Given the description of an element on the screen output the (x, y) to click on. 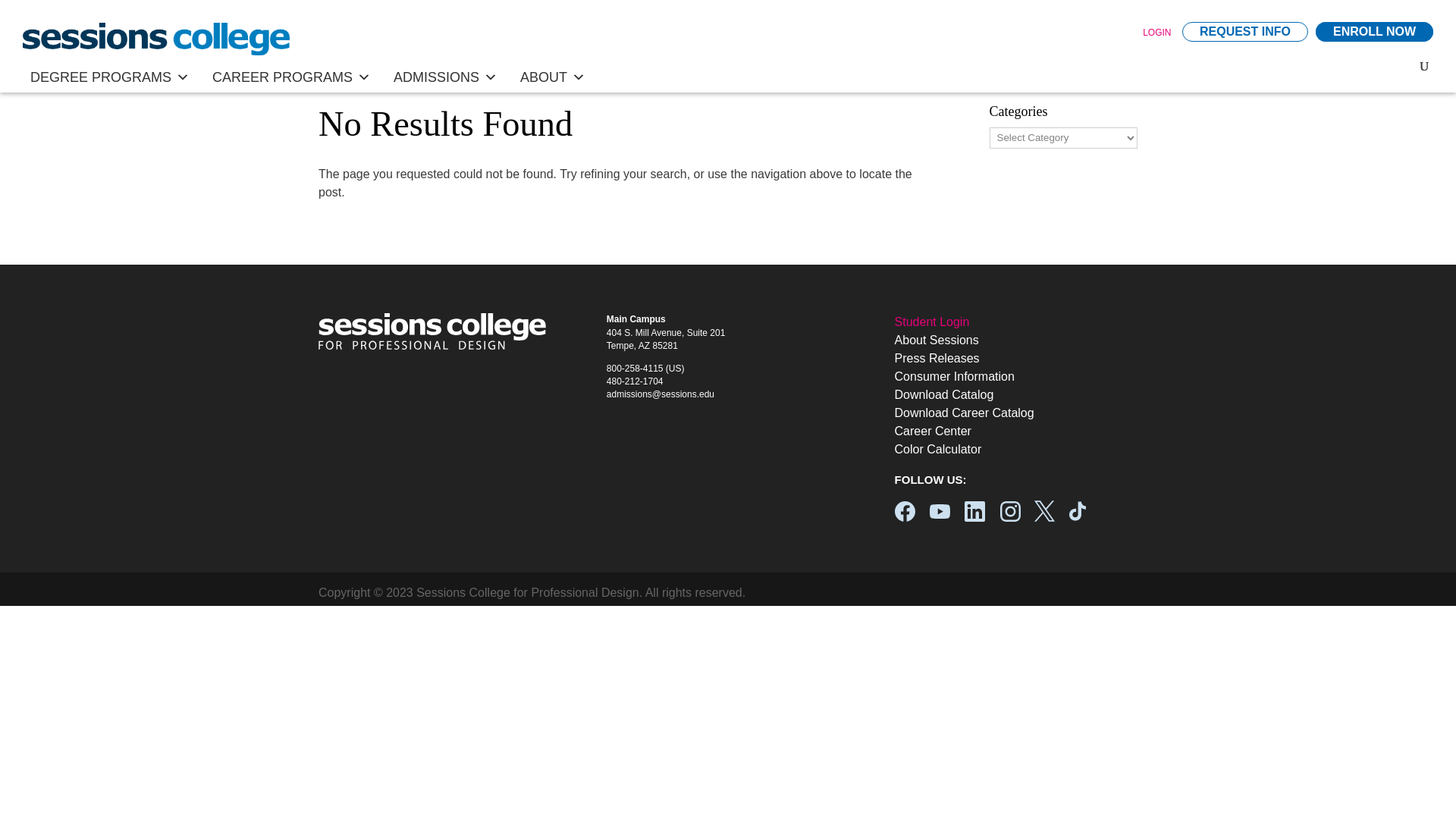
facebook (905, 511)
CAREER PROGRAMS (291, 77)
ADMISSIONS (445, 77)
DEGREE PROGRAMS (109, 77)
home (156, 38)
